Given the description of an element on the screen output the (x, y) to click on. 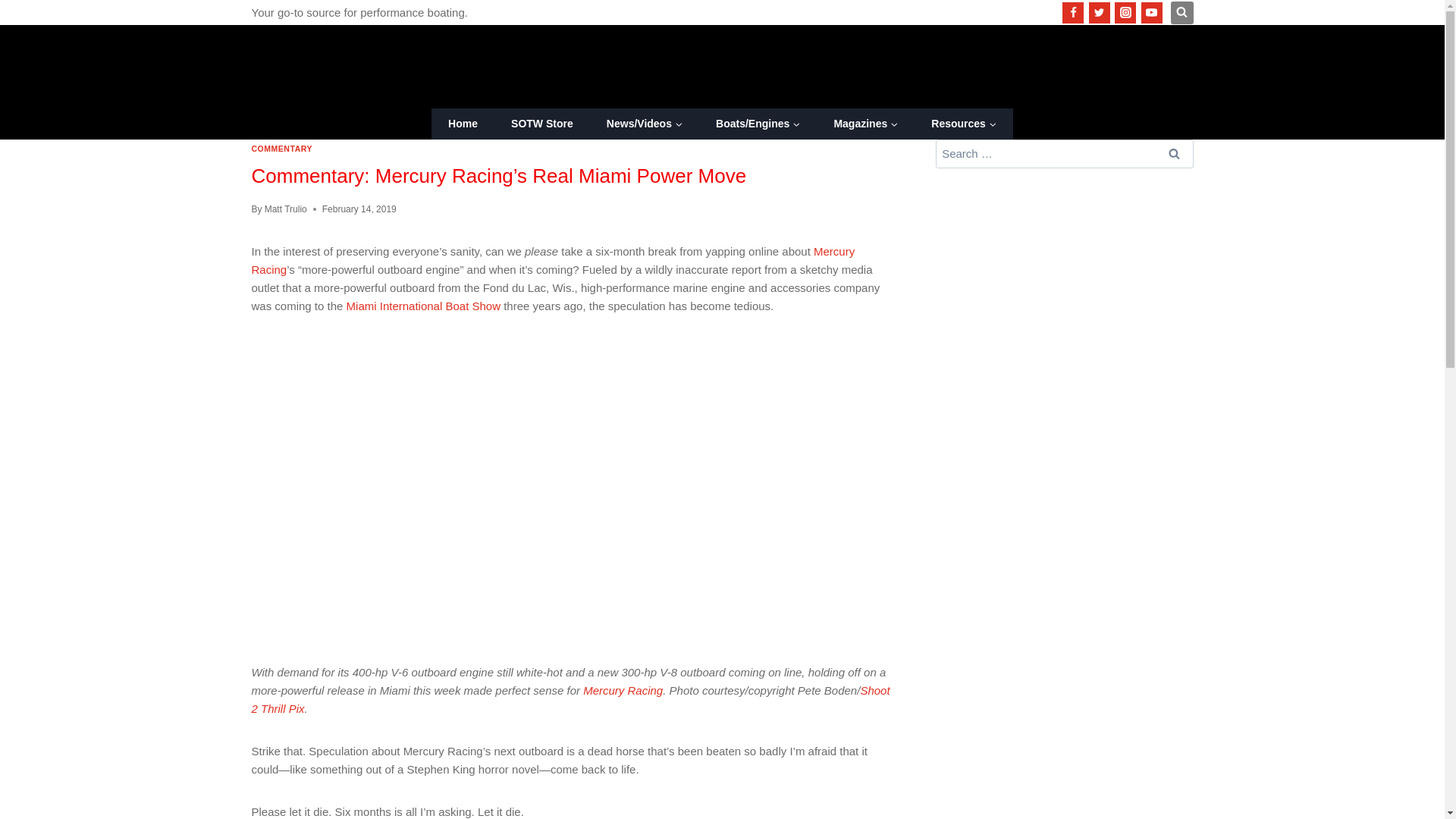
Resources (963, 123)
Search (1174, 153)
Miami International Boat Show (423, 305)
Mercury Racing (622, 689)
Magazines (865, 123)
Mercury Racing (553, 260)
Search (1174, 153)
SOTW Store (542, 123)
Home (462, 123)
Shoot 2 Thrill Pix (570, 698)
